Given the description of an element on the screen output the (x, y) to click on. 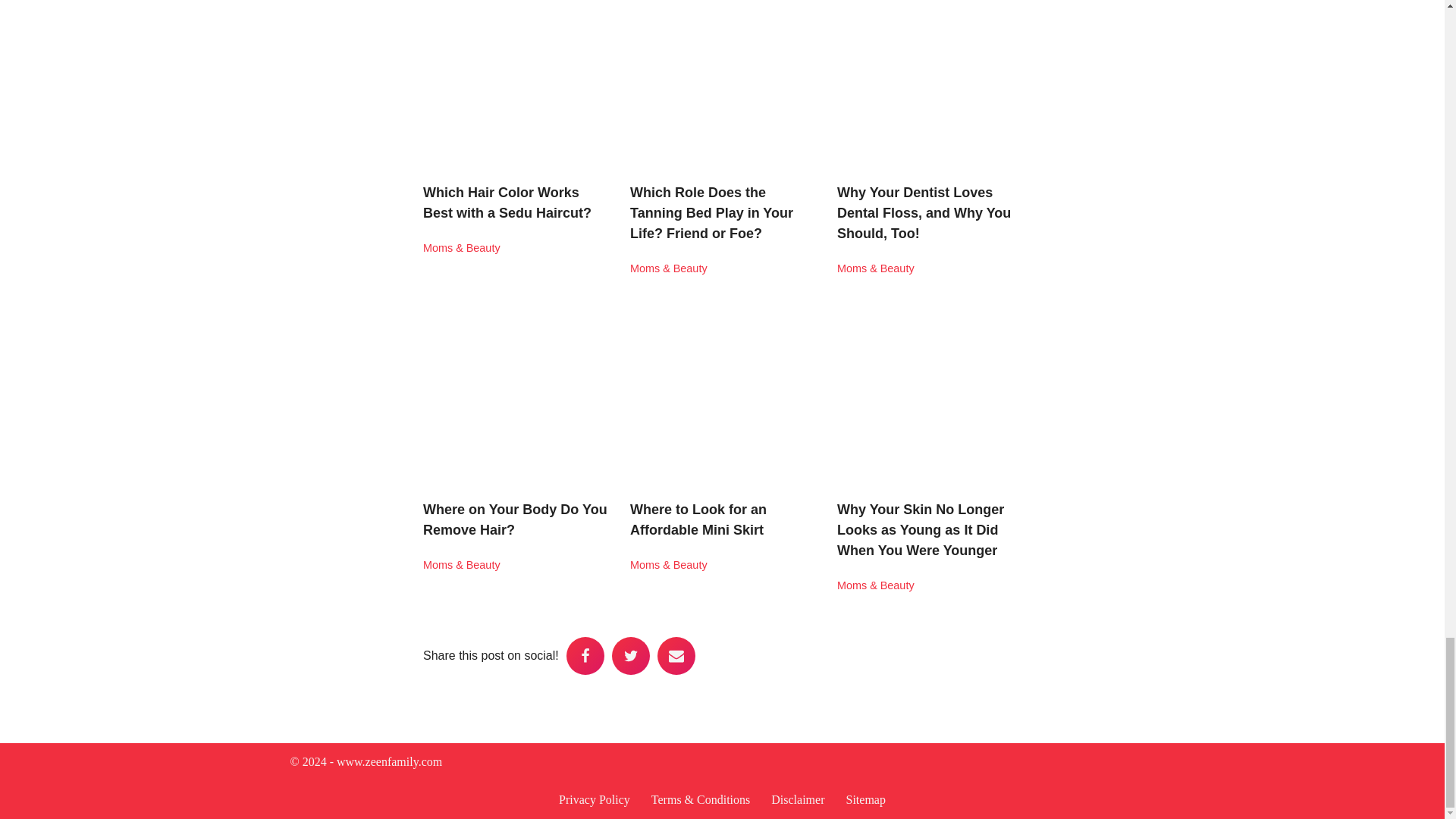
Where on Your Body Do You Remove Hair? (515, 519)
Twitter (630, 655)
Which Hair Color Works Best with a Sedu Haircut? (507, 202)
Email (676, 655)
Facebook (585, 655)
Where to Look for an Affordable Mini Skirt (698, 519)
